Given the description of an element on the screen output the (x, y) to click on. 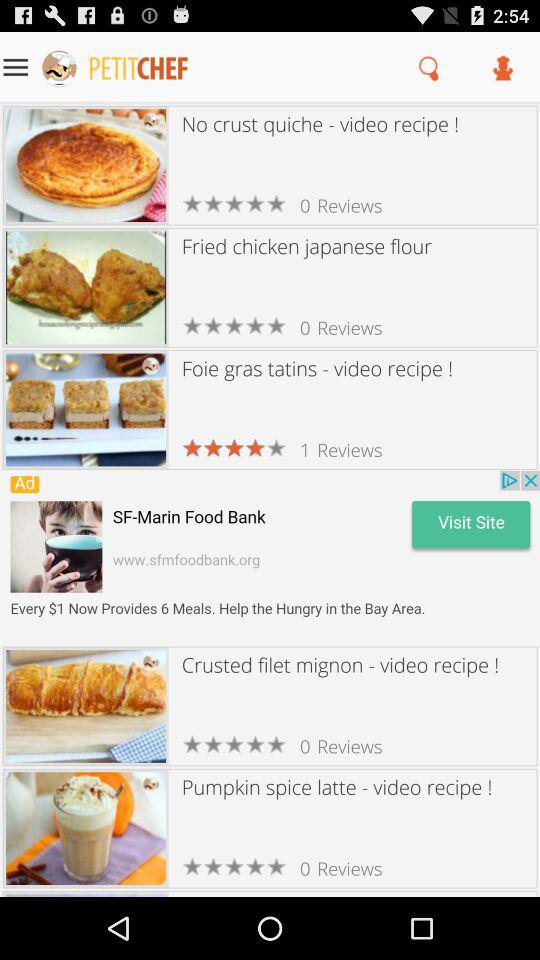
advertisement (270, 557)
